Given the description of an element on the screen output the (x, y) to click on. 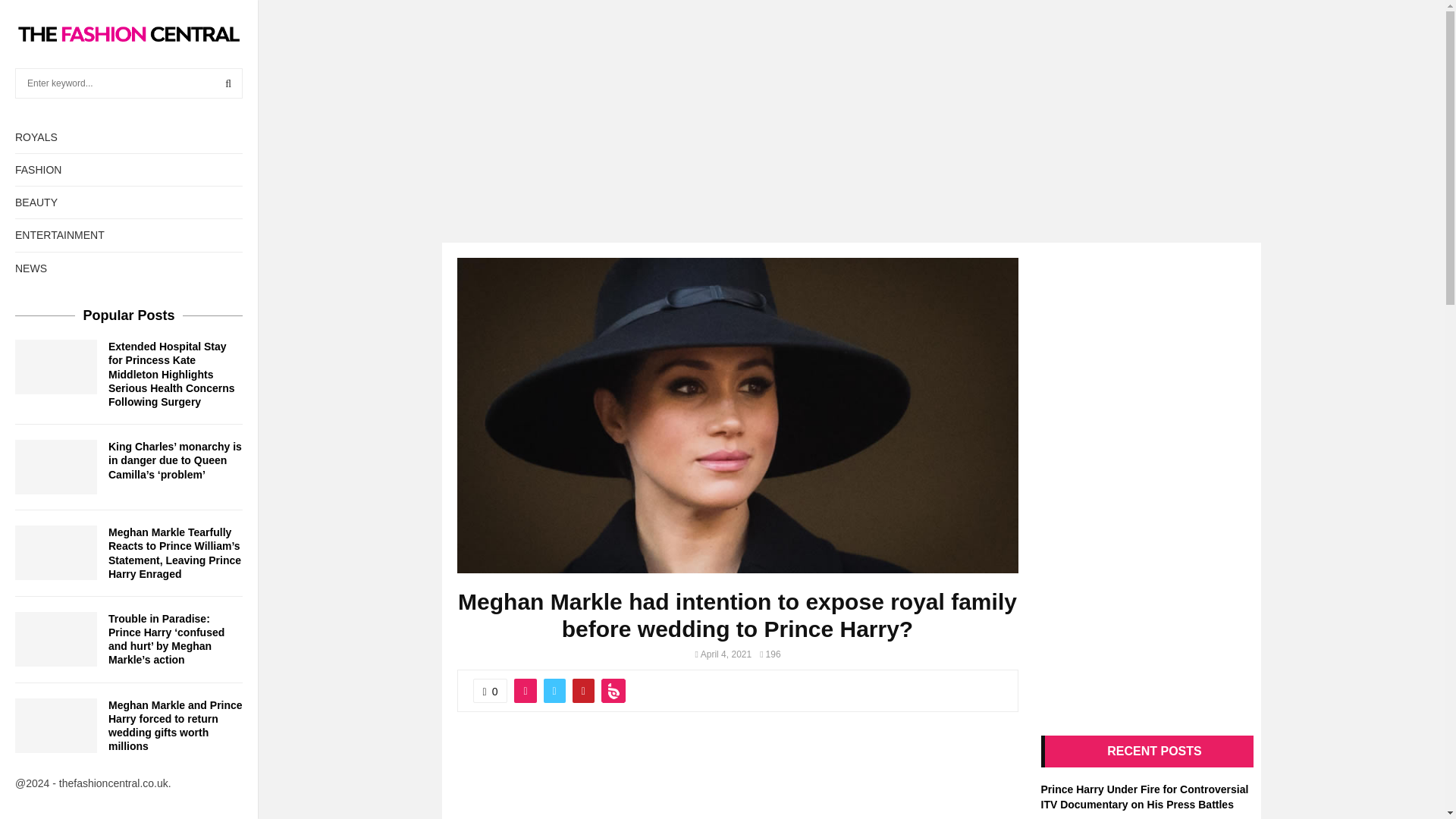
NEWS (128, 268)
Like (490, 690)
SEARCH (228, 82)
FASHION (128, 169)
0 (490, 690)
ROYALS (128, 137)
ENTERTAINMENT (128, 234)
BEAUTY (128, 202)
